Given the description of an element on the screen output the (x, y) to click on. 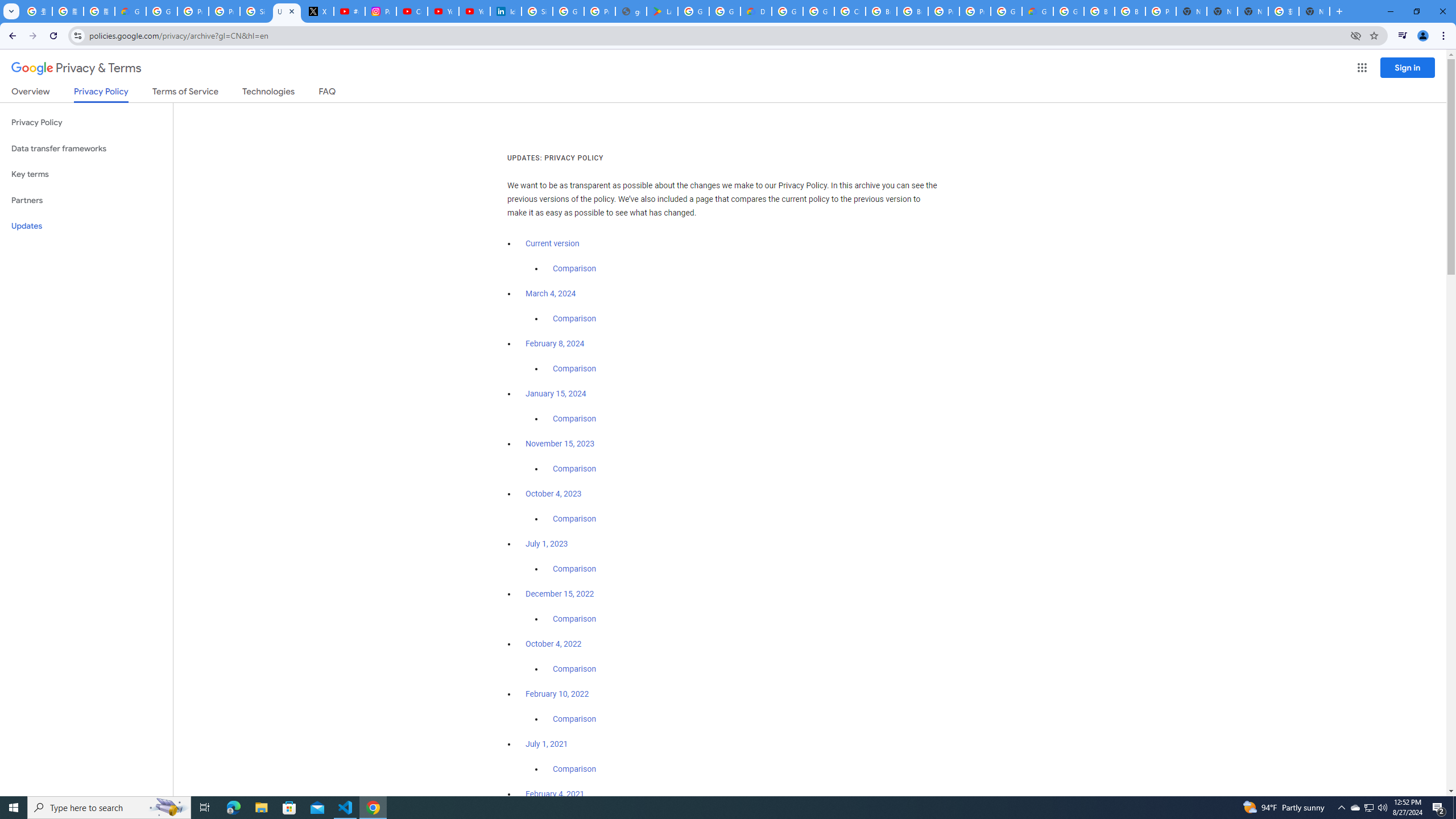
November 15, 2023 (560, 443)
October 4, 2022 (553, 643)
Google Cloud Estimate Summary (1037, 11)
Current version (552, 243)
July 1, 2023 (546, 543)
Last Shelter: Survival - Apps on Google Play (662, 11)
